Given the description of an element on the screen output the (x, y) to click on. 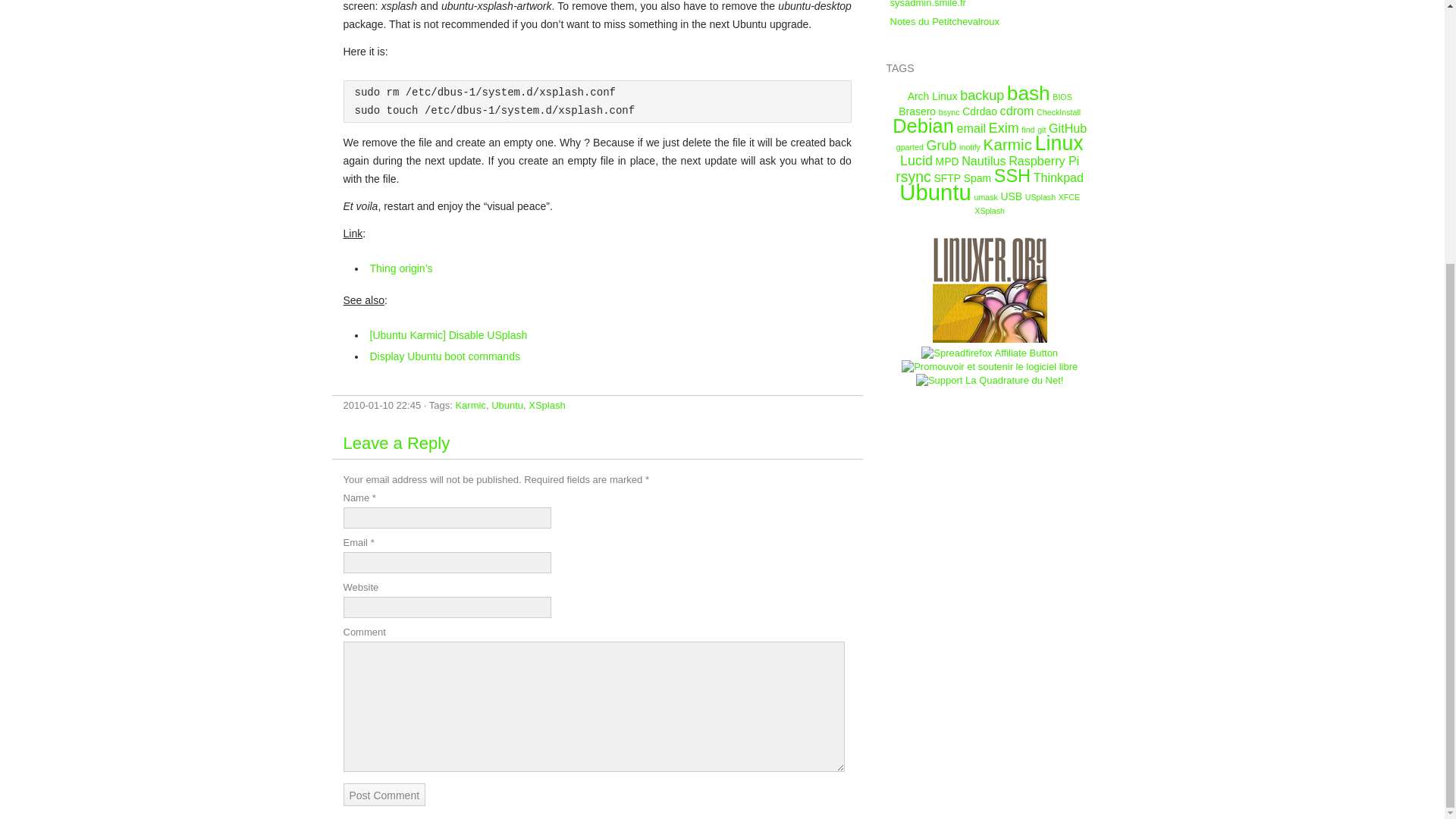
bsync (949, 112)
2 topics (932, 96)
backup (981, 95)
cdrom (1016, 110)
Exim (1003, 127)
13 topics (1028, 92)
4 topics (981, 95)
Arch Linux (932, 96)
Brasero (917, 111)
BIOS (1061, 96)
sysadmin.smile.fr (927, 4)
CheckInstall (1058, 112)
Notes du Petitchevalroux (944, 21)
XSplash (546, 405)
Post Comment (383, 793)
